Given the description of an element on the screen output the (x, y) to click on. 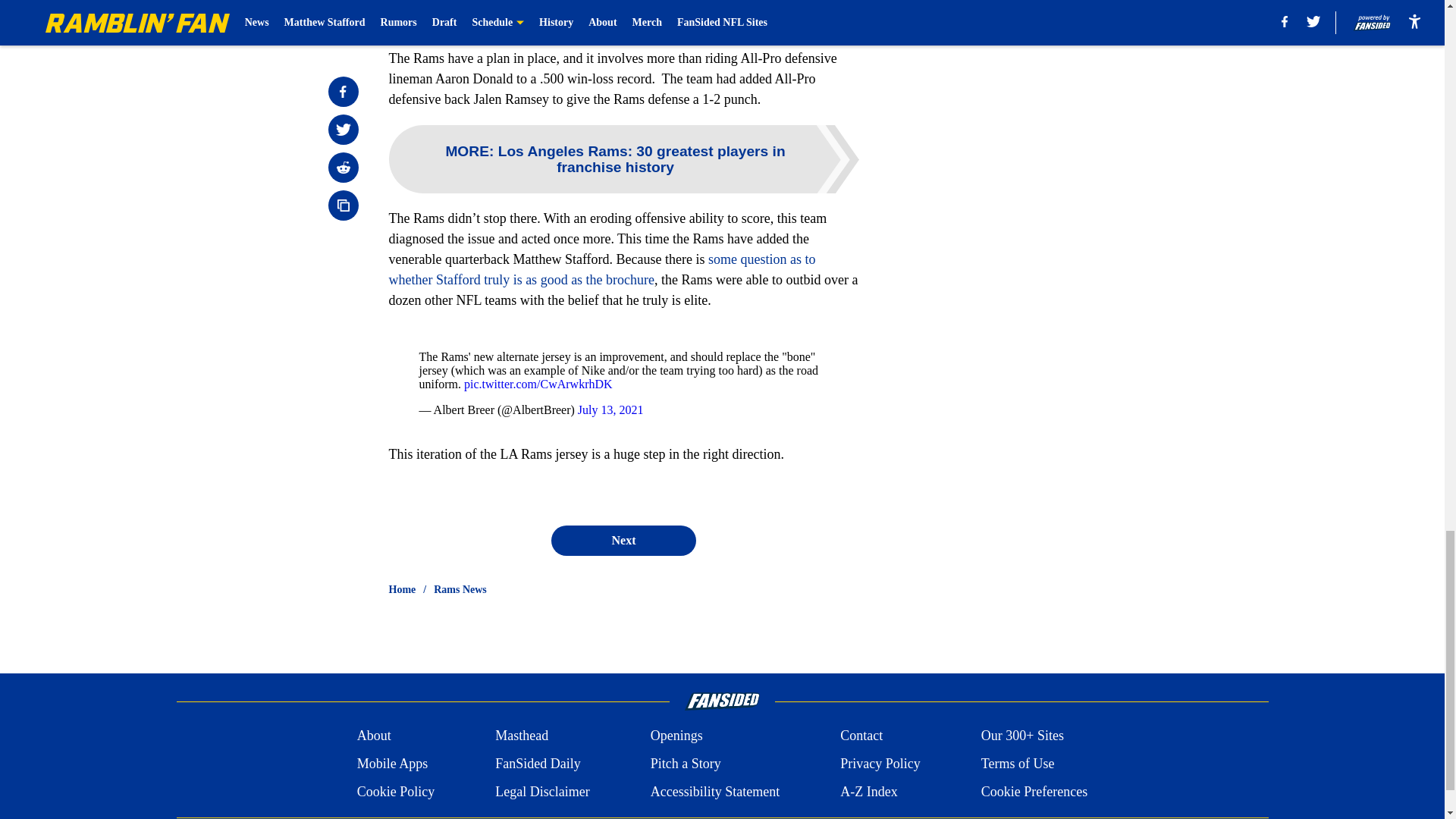
Openings (676, 735)
Mobile Apps (392, 763)
Rams News (459, 589)
Next (622, 540)
Contact (861, 735)
FanSided Daily (537, 763)
About (373, 735)
July 13, 2021 (610, 409)
Masthead (521, 735)
Home (401, 589)
